Given the description of an element on the screen output the (x, y) to click on. 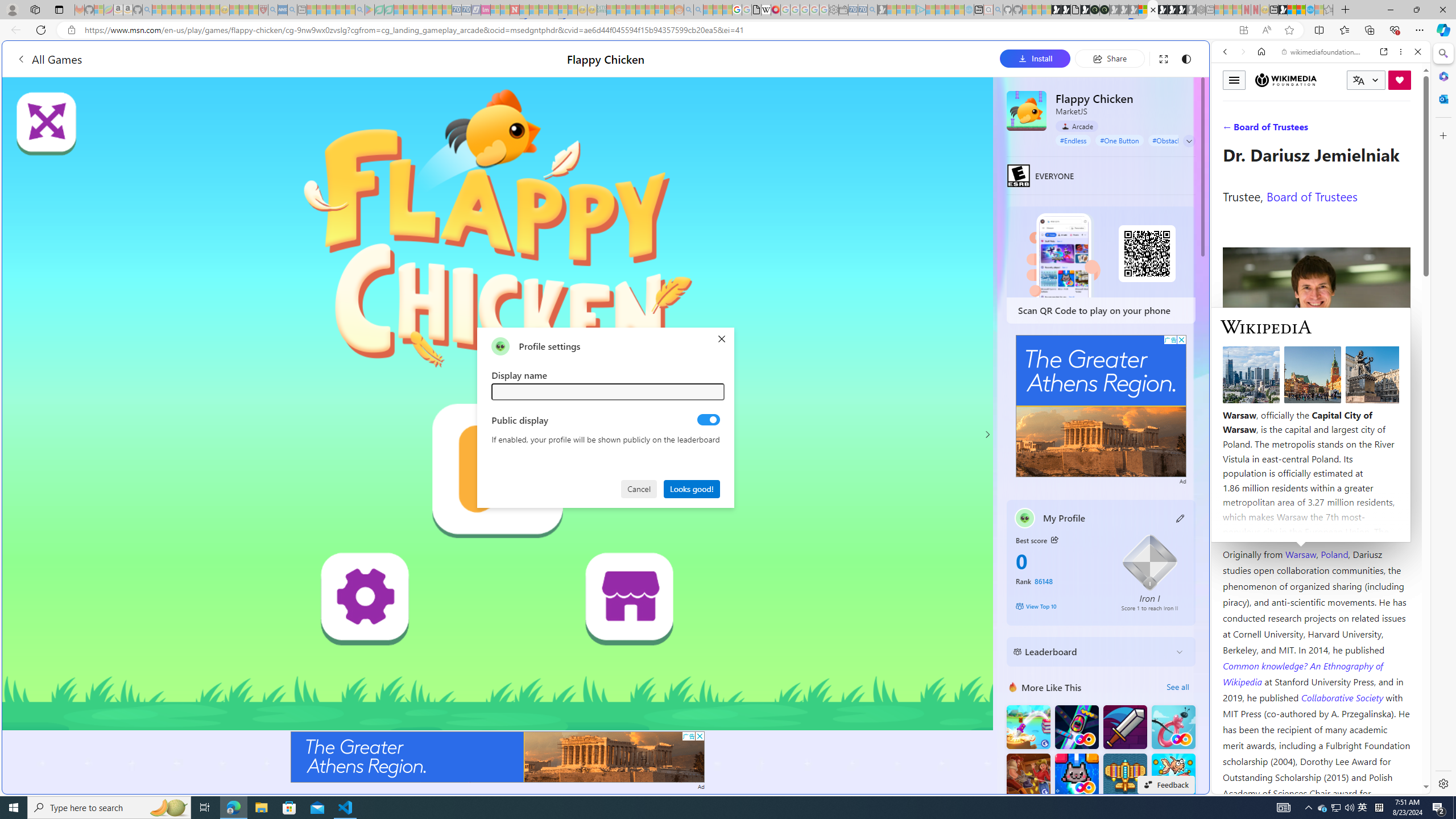
Robert H. Shmerling, MD - Harvard Health - Sleeping (263, 9)
Atlantic Sky Hunter (1124, 775)
Wallet - Sleeping (843, 9)
The Weather Channel - MSN - Sleeping (175, 9)
MediaWiki (774, 9)
Utah sues federal government - Search - Sleeping (697, 9)
